Given the description of an element on the screen output the (x, y) to click on. 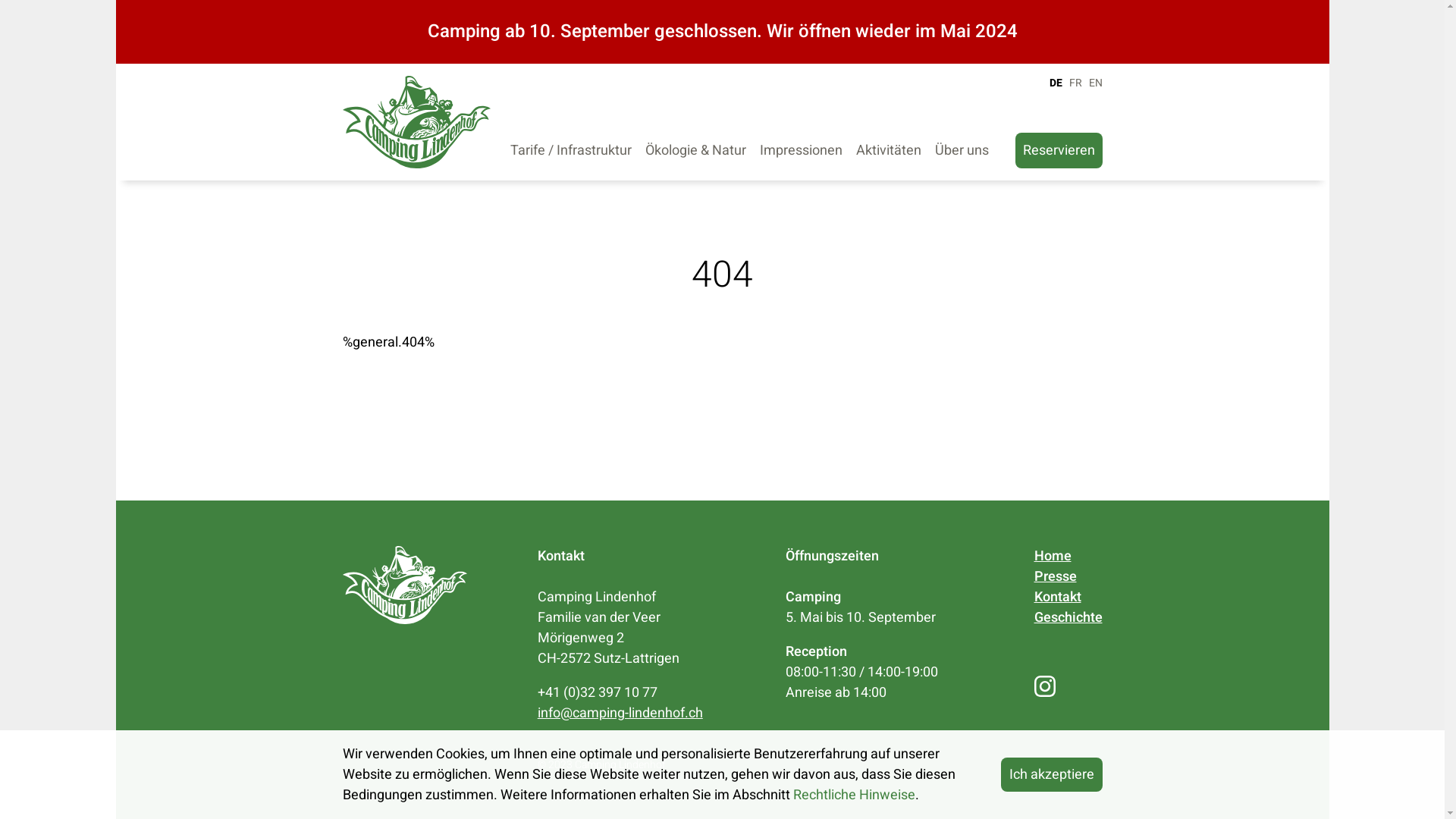
Homepage Element type: hover (416, 121)
Rechtliche Hinweise Element type: text (854, 794)
Impressionen Element type: text (801, 150)
FR Element type: text (1075, 83)
EN Element type: text (1095, 83)
DE Element type: text (1055, 83)
Reservieren Element type: text (1058, 150)
Home Element type: text (1052, 556)
Geschichte Element type: text (1068, 617)
info@camping-lindenhof.ch Element type: text (619, 712)
Kontakt Element type: text (1057, 596)
Rechtliche Hinweise Element type: text (1055, 764)
Homepage Element type: hover (404, 619)
Tarife / Infrastruktur Element type: text (570, 150)
Ich akzeptiere Element type: text (1051, 774)
Presse Element type: text (1055, 576)
